Given the description of an element on the screen output the (x, y) to click on. 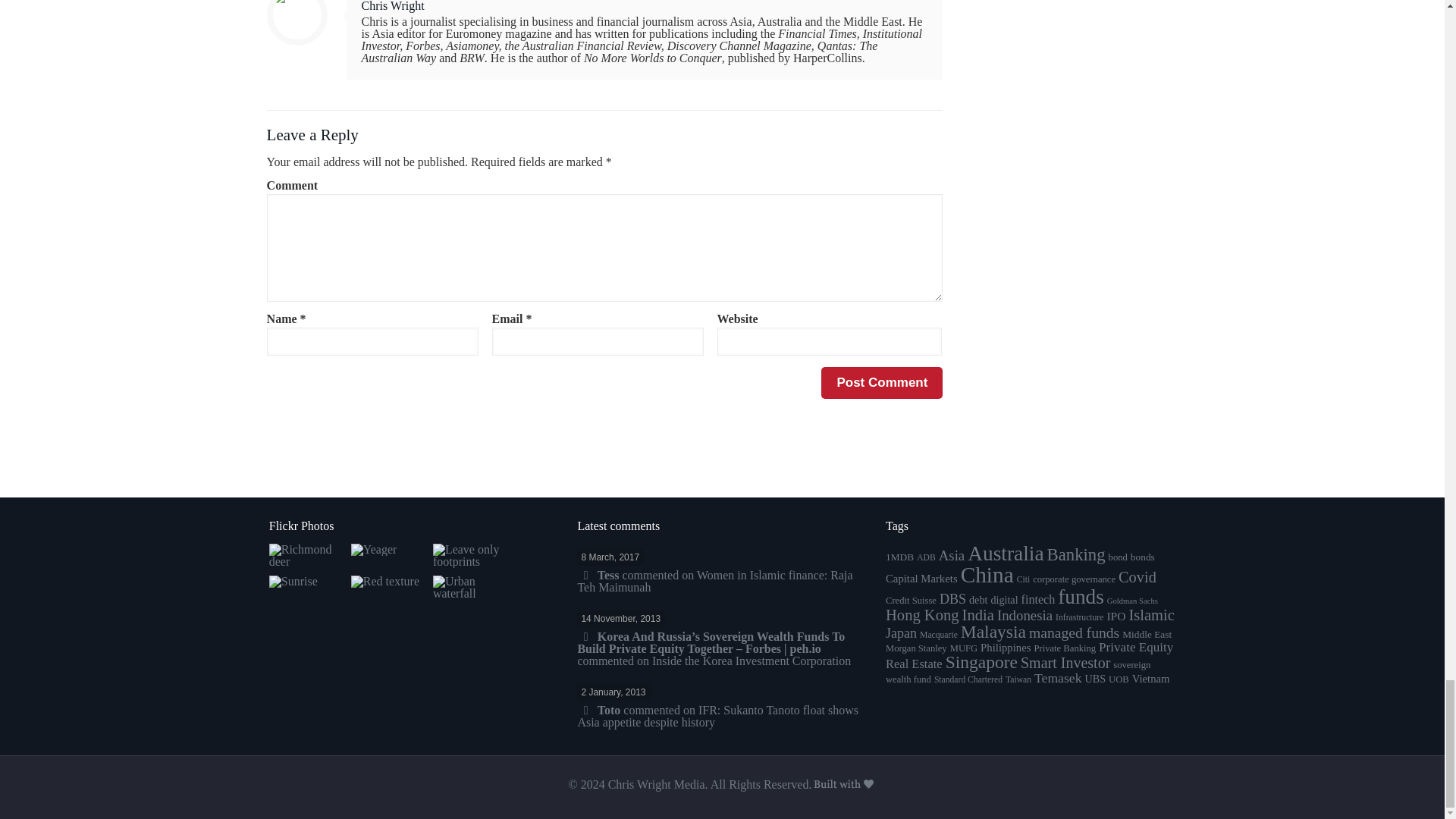
Post Comment (881, 382)
